Given the description of an element on the screen output the (x, y) to click on. 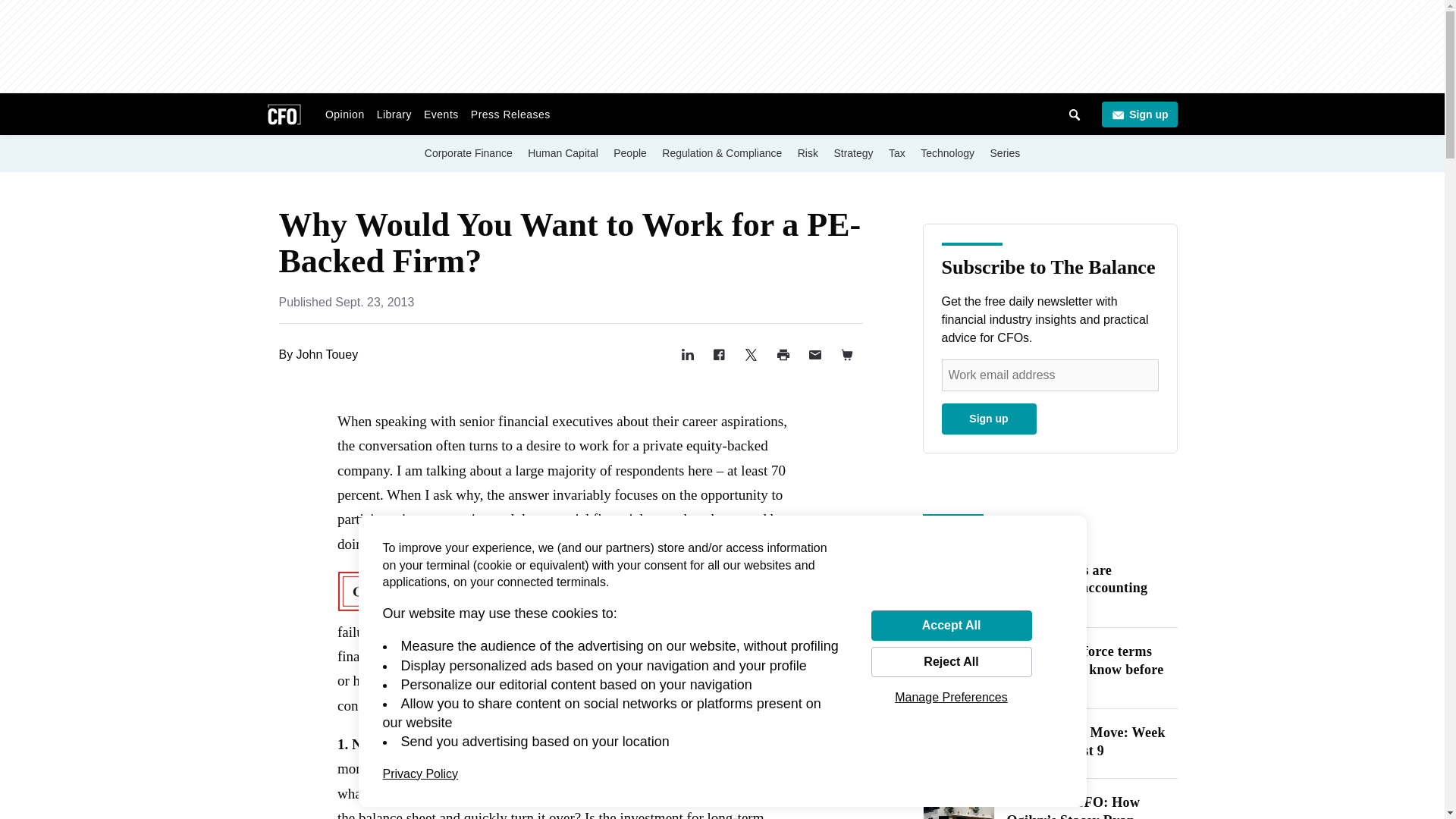
Human Capital (562, 152)
Events (440, 114)
Corporate Finance (468, 152)
Press Releases (510, 114)
Sign up (1138, 114)
Library (394, 114)
Tax (896, 152)
Accept All (950, 625)
Technology (946, 152)
Reject All (950, 662)
